Given the description of an element on the screen output the (x, y) to click on. 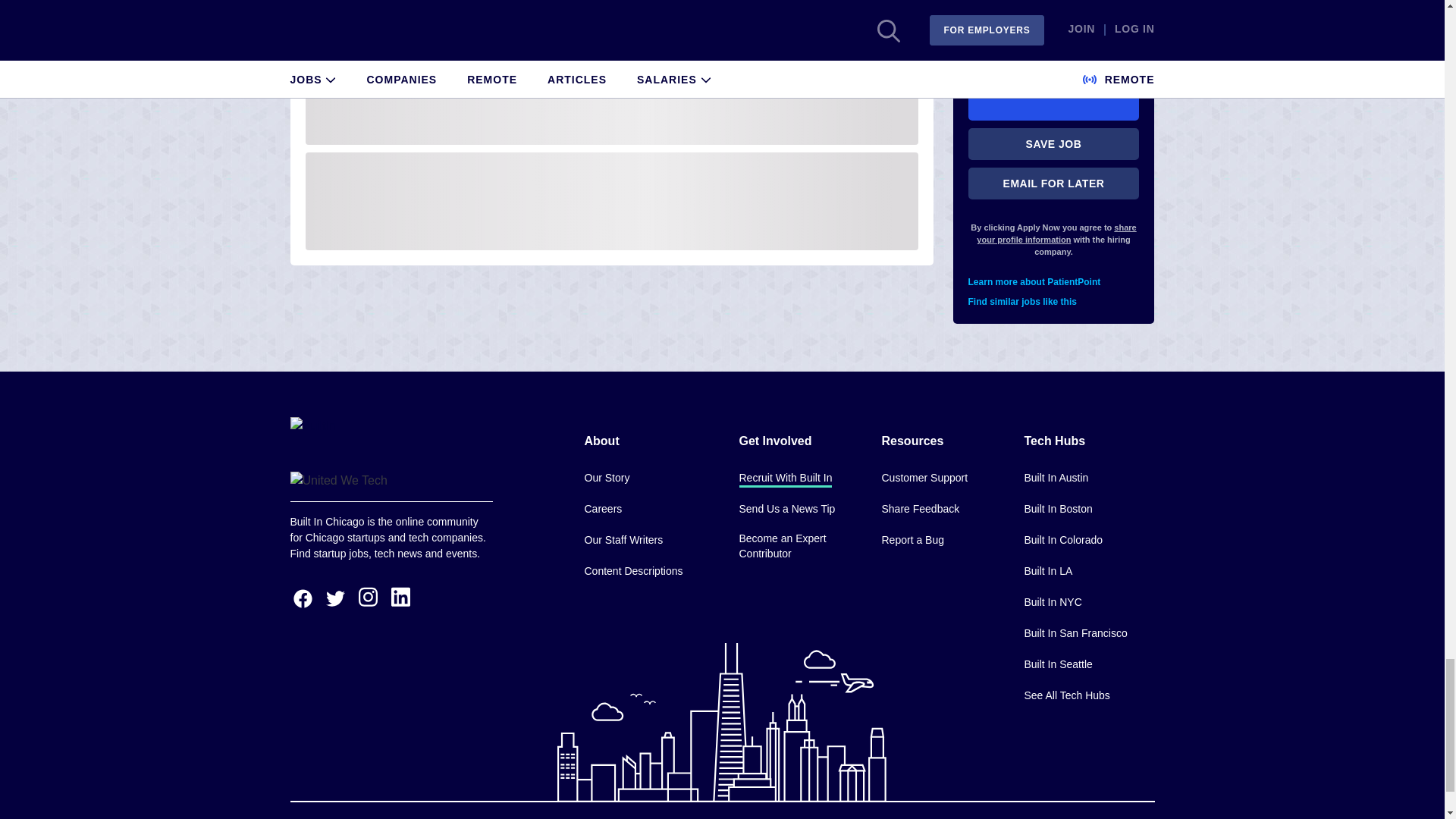
Our Story (605, 478)
